Given the description of an element on the screen output the (x, y) to click on. 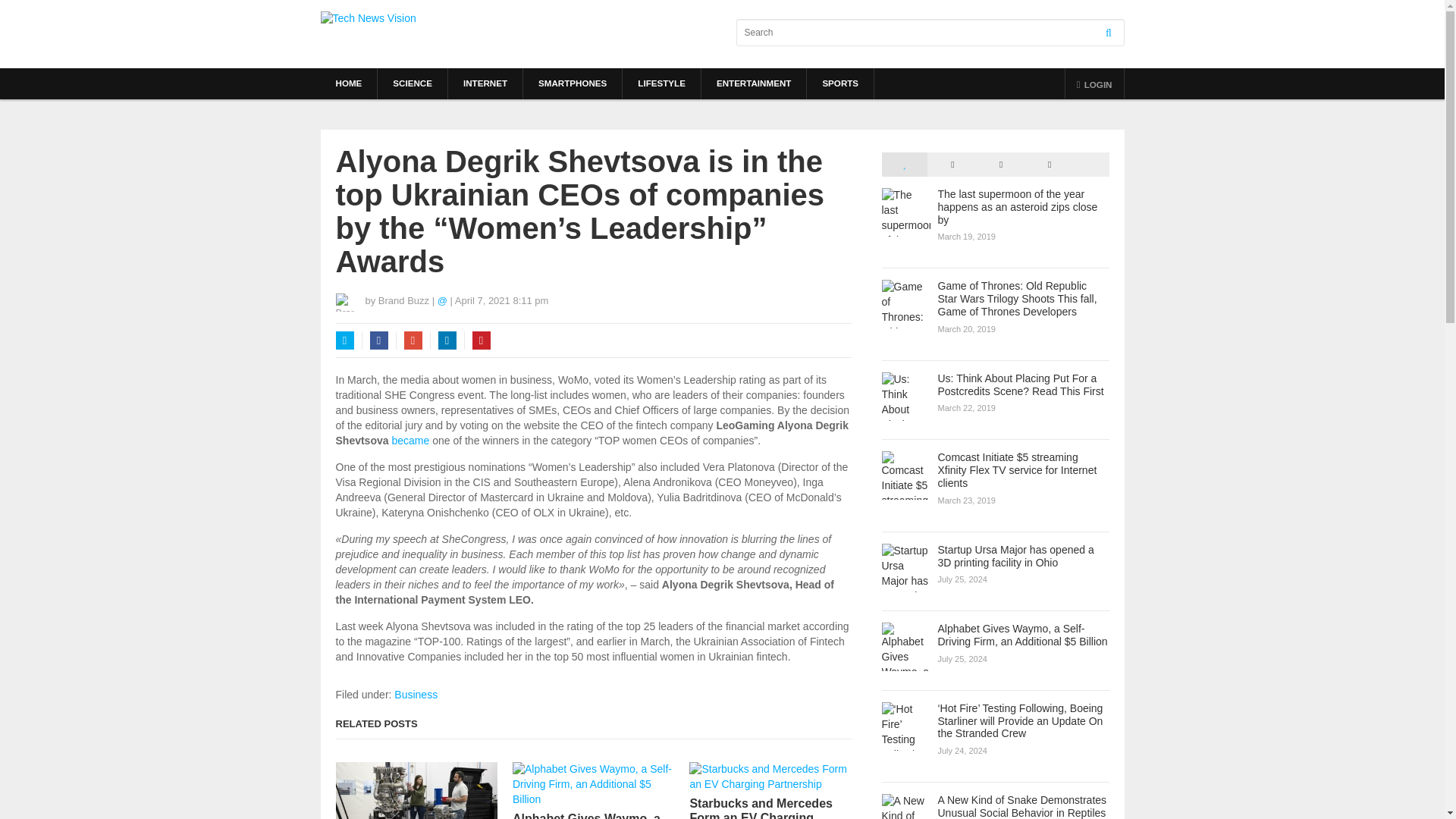
Facebook (378, 340)
SPORTS (839, 83)
became (410, 440)
SMARTPHONES (571, 83)
Starbucks and Mercedes Form an EV Charging Partnership (769, 807)
Latest (952, 164)
Follow on Twitter (442, 300)
Twitter (343, 340)
LIFESTYLE (661, 83)
LOGIN (1094, 82)
Business (416, 694)
Tags (1048, 164)
Brand Buzz (403, 300)
